Given the description of an element on the screen output the (x, y) to click on. 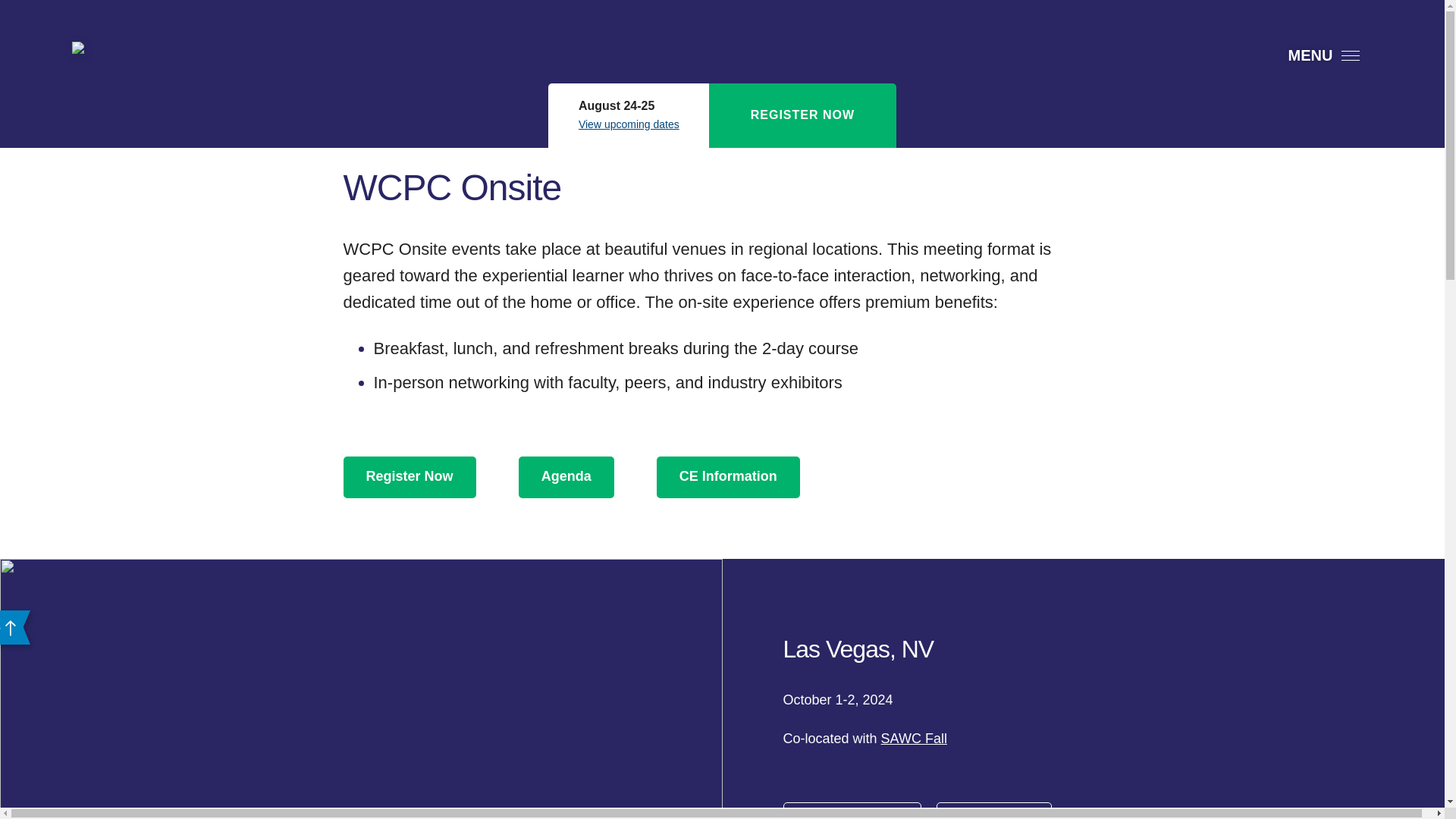
Hotel Information (851, 810)
CE Information (727, 476)
REGISTER NOW (802, 115)
SAWC Fall (913, 738)
Register Now (409, 476)
Agenda (566, 476)
Register Now (993, 810)
